Given the description of an element on the screen output the (x, y) to click on. 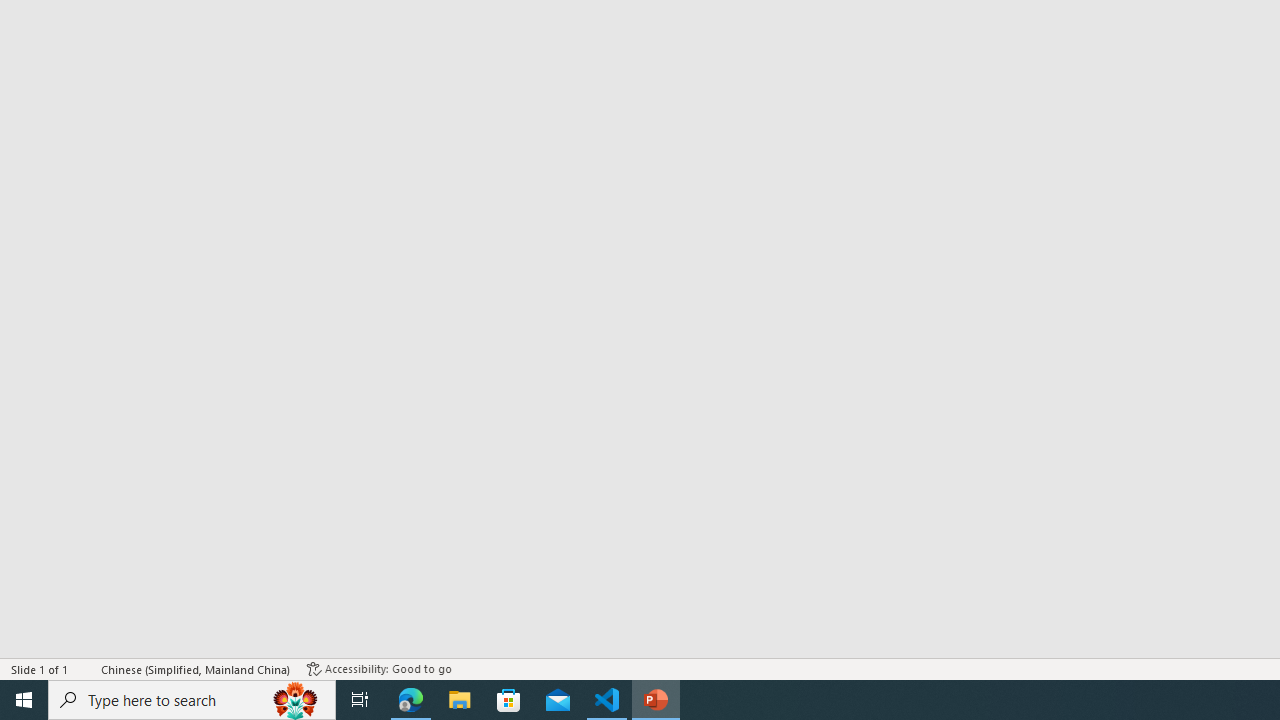
Spell Check  (86, 668)
Accessibility Checker Accessibility: Good to go (379, 668)
